Given the description of an element on the screen output the (x, y) to click on. 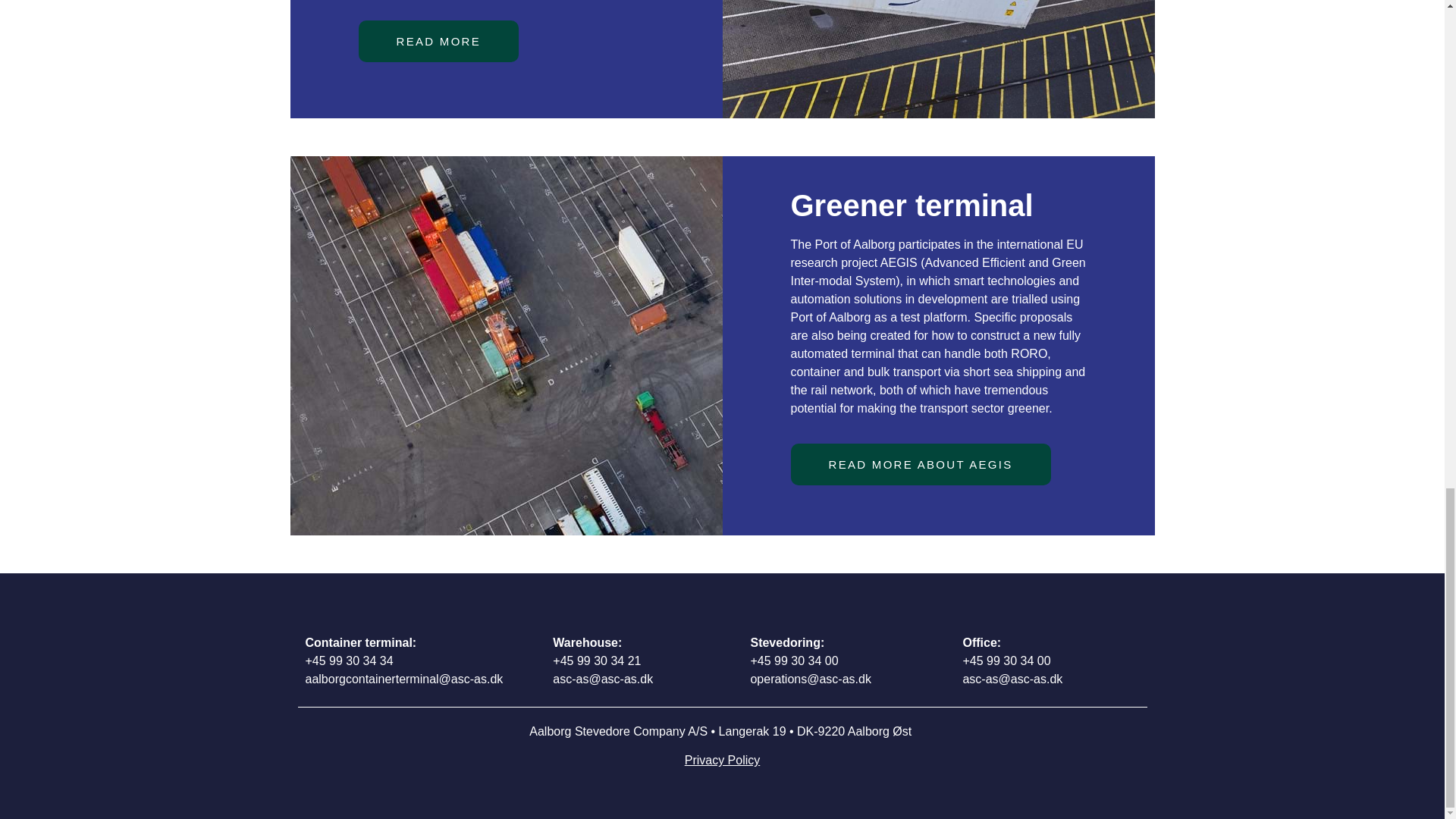
READ MORE (438, 41)
READ MORE ABOUT AEGIS (919, 464)
